Given the description of an element on the screen output the (x, y) to click on. 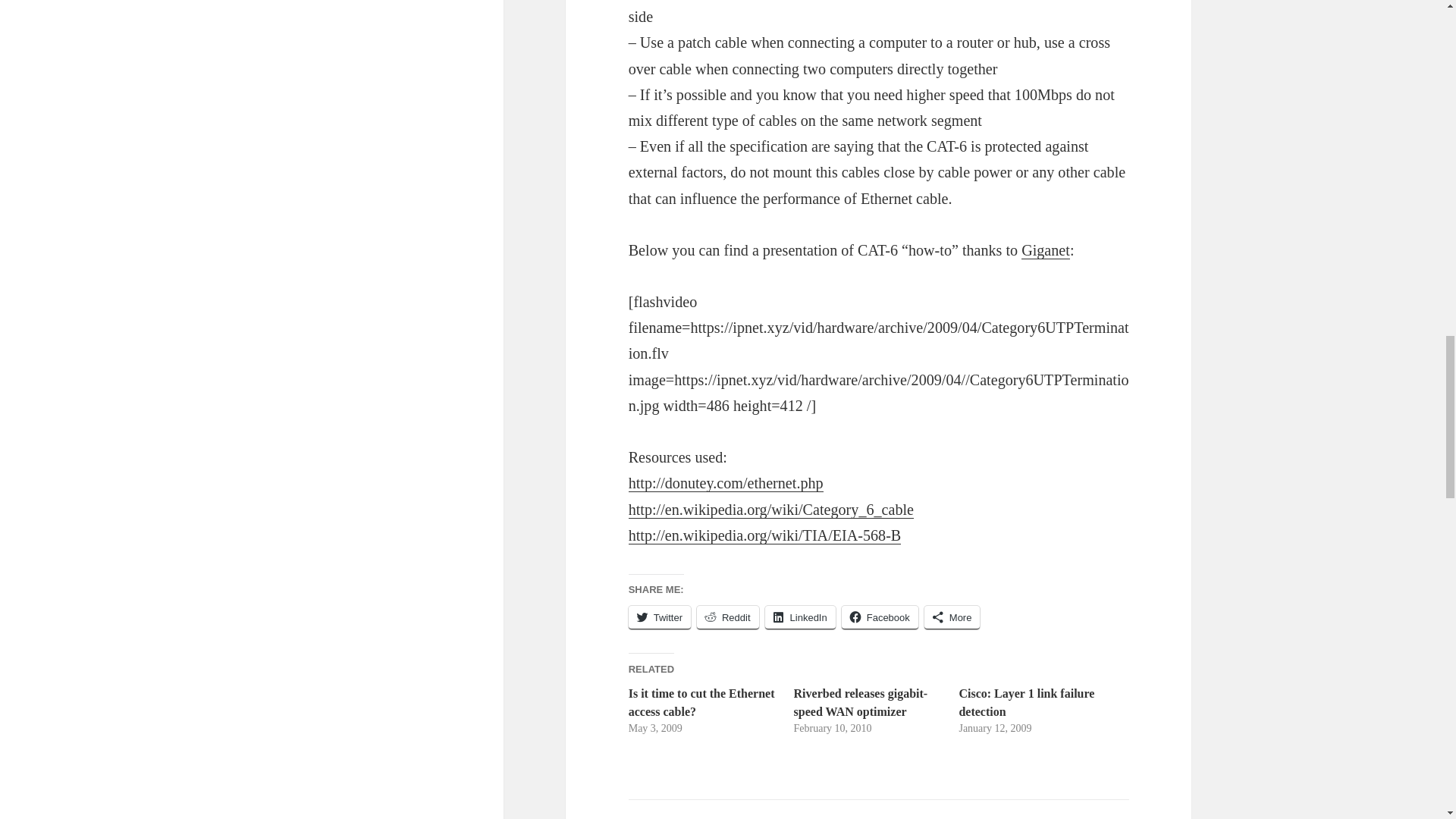
Is it time to cut the Ethernet access cable? (701, 702)
Facebook (879, 617)
More (951, 617)
Giganet (1046, 250)
Click to share on Twitter (659, 617)
Click to share on Reddit (727, 617)
Twitter (659, 617)
Giganet (1046, 250)
Click to share on LinkedIn (800, 617)
Riverbed releases gigabit-speed WAN optimizer (860, 702)
LinkedIn (800, 617)
Reddit (727, 617)
Click to share on Facebook (879, 617)
